Given the description of an element on the screen output the (x, y) to click on. 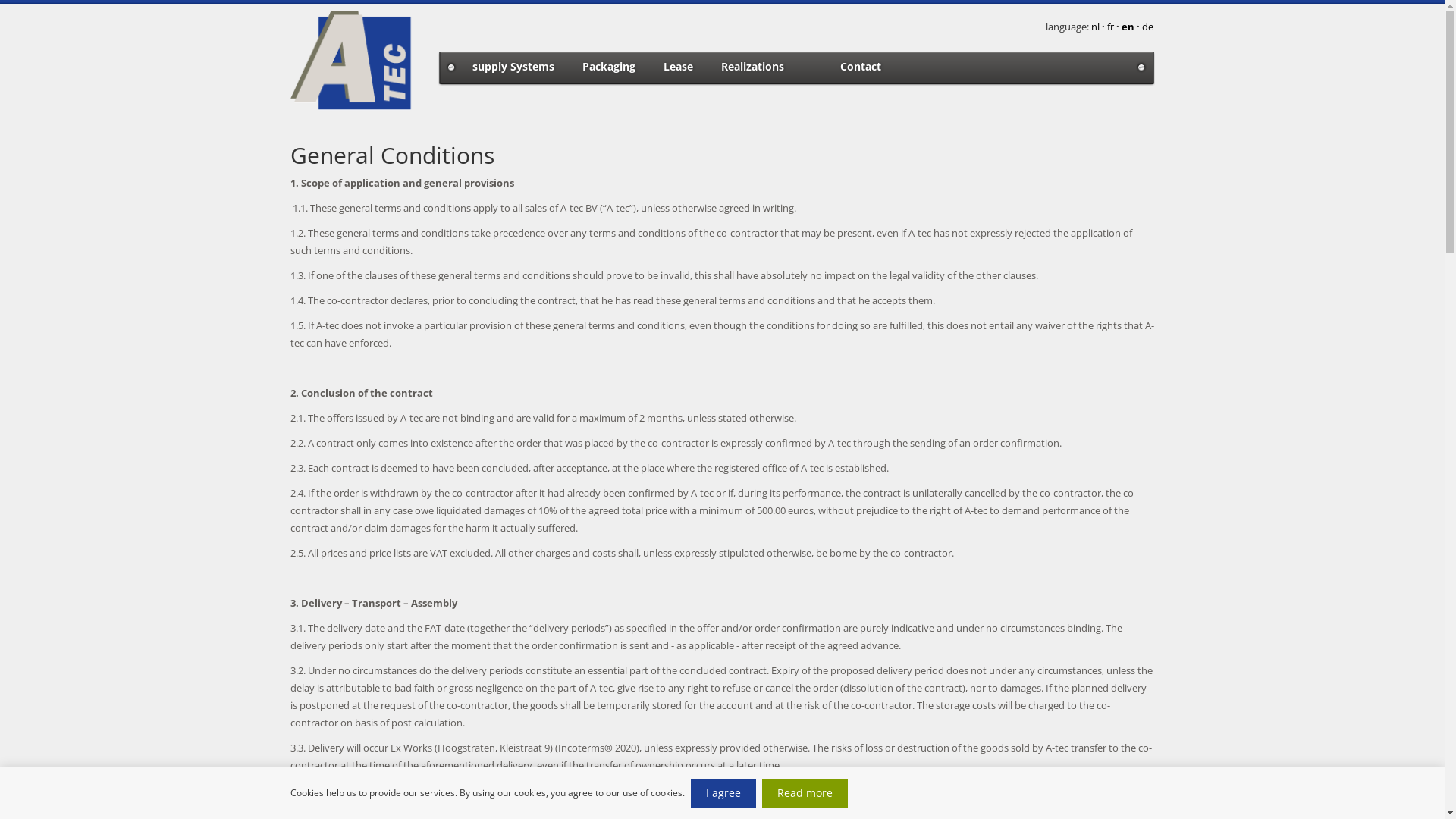
Packaging Element type: text (608, 66)
I agree Element type: text (722, 792)
Realizations Element type: text (751, 66)
en Element type: text (1126, 26)
fr Element type: text (1111, 26)
Lease Element type: text (677, 66)
Contact Element type: text (860, 66)
@ name company logo Element type: hover (351, 60)
supply Systems Element type: text (512, 66)
nl Element type: text (1095, 26)
Read more Element type: text (804, 792)
de Element type: text (1147, 26)
